Given the description of an element on the screen output the (x, y) to click on. 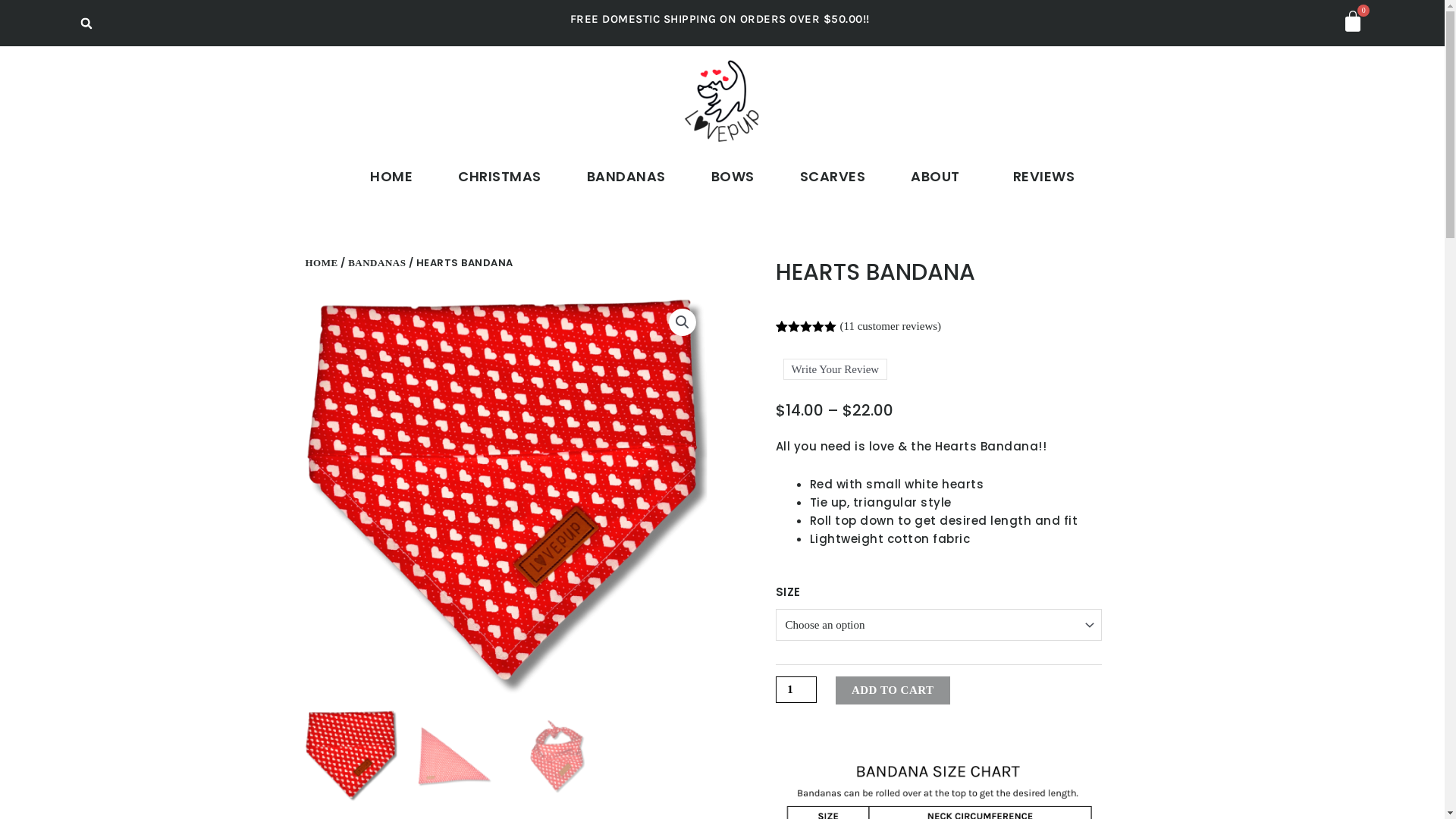
BANDANAS Element type: text (376, 262)
ADD TO CART Element type: text (892, 690)
HOME Element type: text (320, 262)
0
CART Element type: text (1352, 23)
REVIEWS Element type: text (1044, 176)
BOWS Element type: text (732, 176)
(11 customer reviews) Element type: text (890, 325)
ABOUT Element type: text (939, 176)
BANDANAS Element type: text (626, 176)
Hearts Tie Up Dog Bandana Element type: hover (505, 498)
SCARVES Element type: text (832, 176)
HOME Element type: text (391, 176)
CHRISTMAS Element type: text (499, 176)
